Given the description of an element on the screen output the (x, y) to click on. 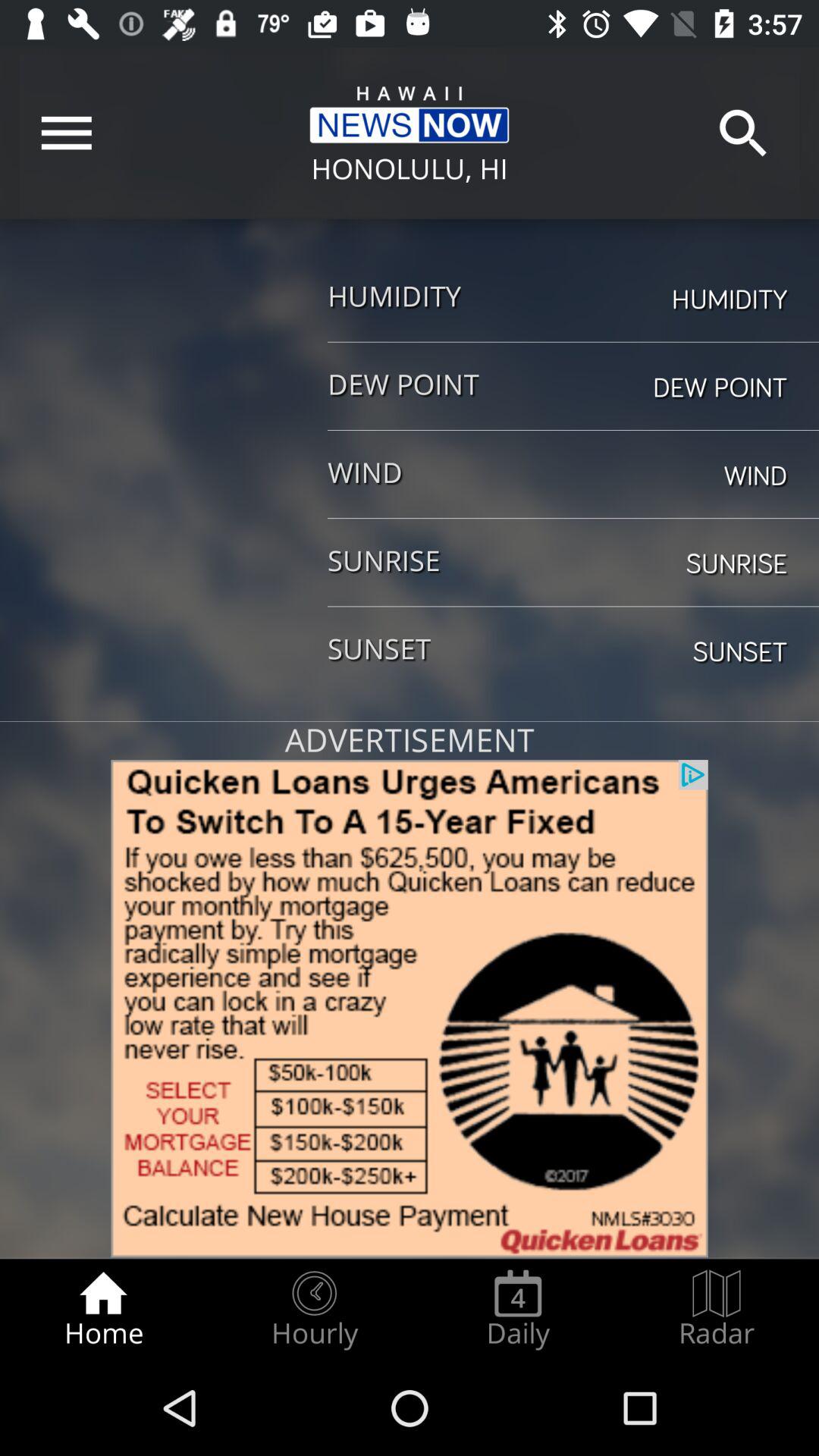
advertisement link image (409, 1008)
